Given the description of an element on the screen output the (x, y) to click on. 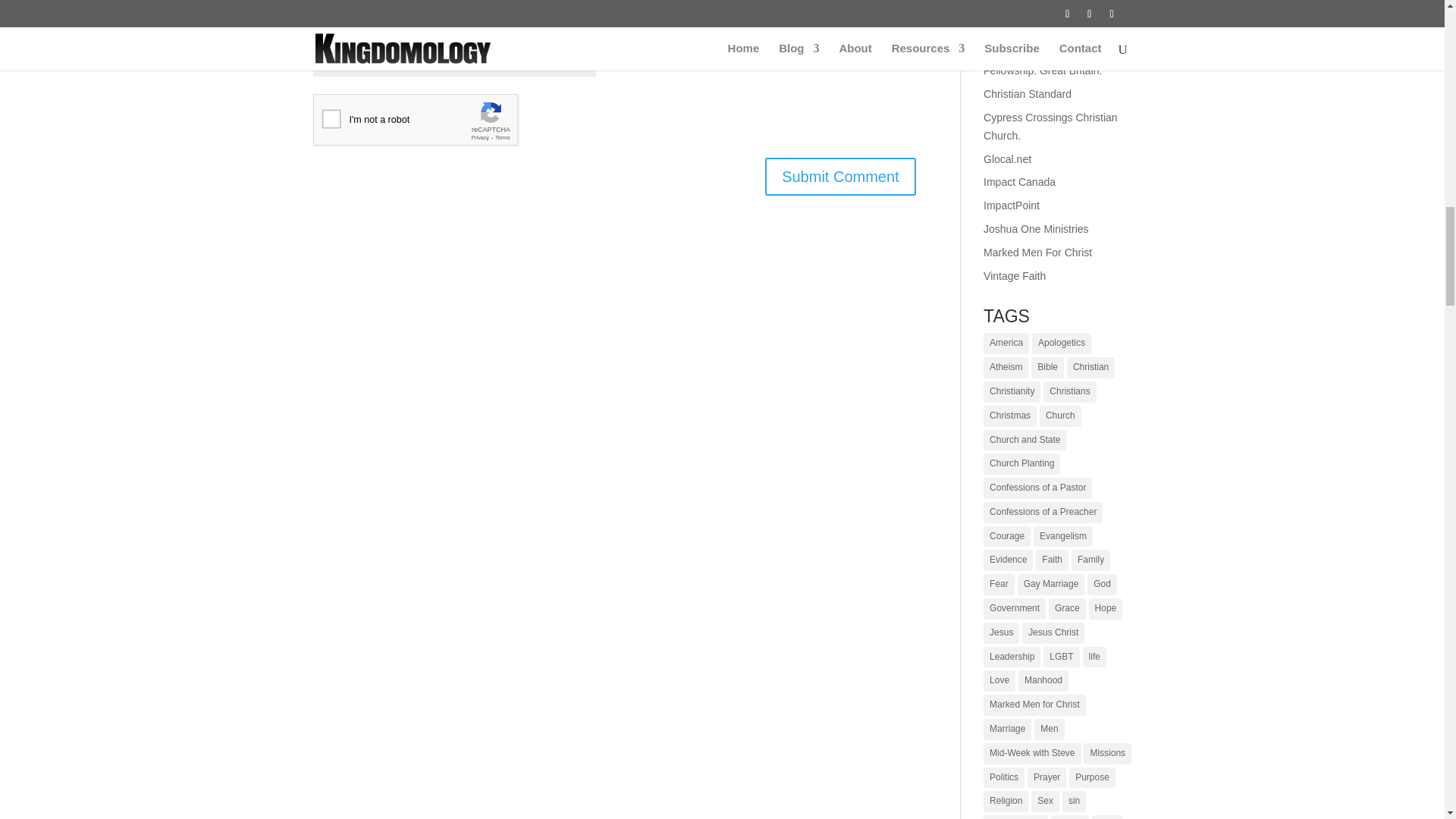
Submit Comment (840, 176)
reCAPTCHA (428, 123)
